Given the description of an element on the screen output the (x, y) to click on. 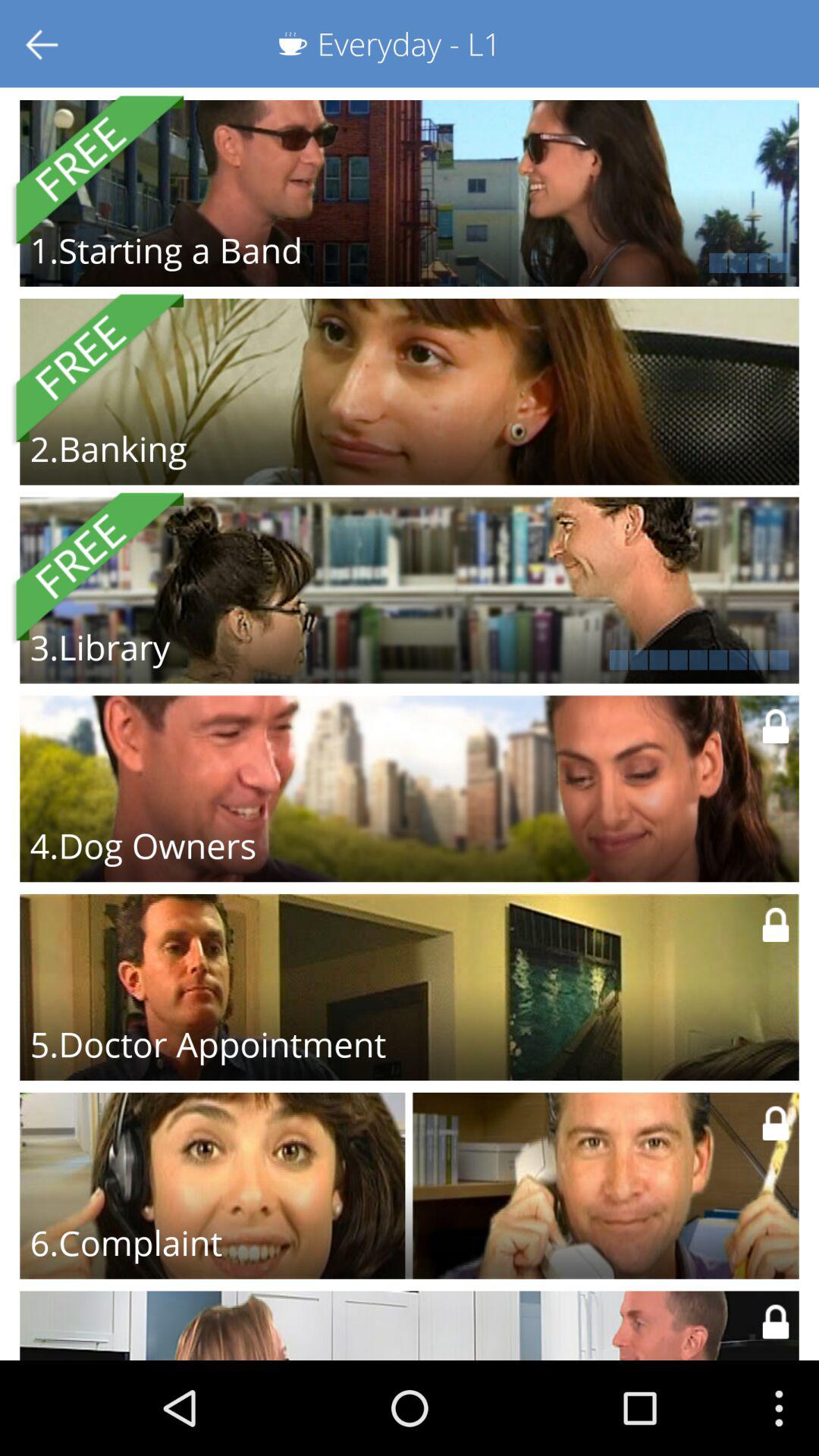
select the sixth complaint image (409, 1186)
click on text above library (96, 567)
select the second frame from top (409, 391)
select the first image from the top (409, 193)
click on the option which says banking (409, 391)
select the lock icon of doctor appointment (775, 924)
